Given the description of an element on the screen output the (x, y) to click on. 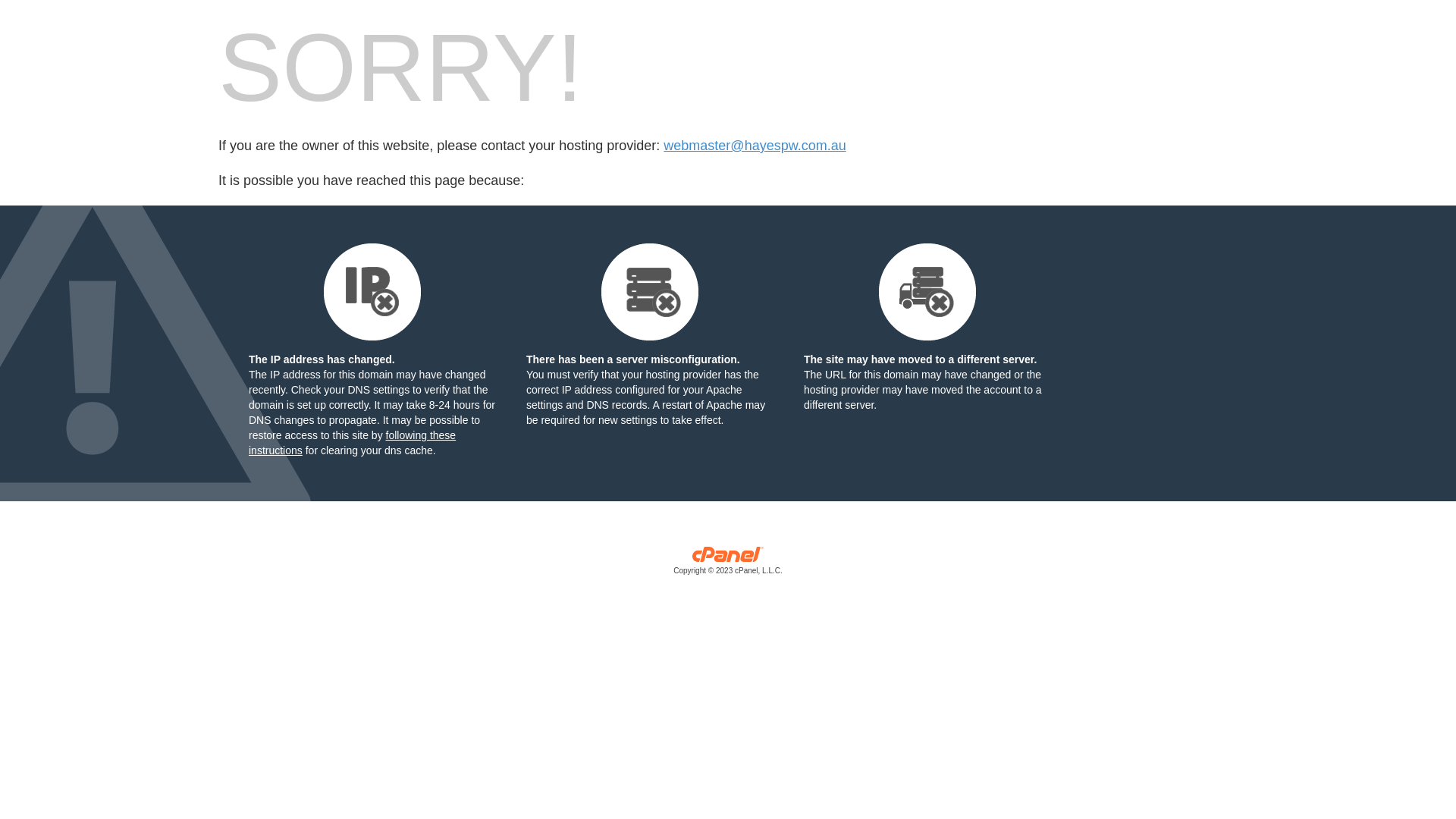
webmaster@hayespw.com.au Element type: text (754, 145)
following these instructions Element type: text (351, 442)
